Given the description of an element on the screen output the (x, y) to click on. 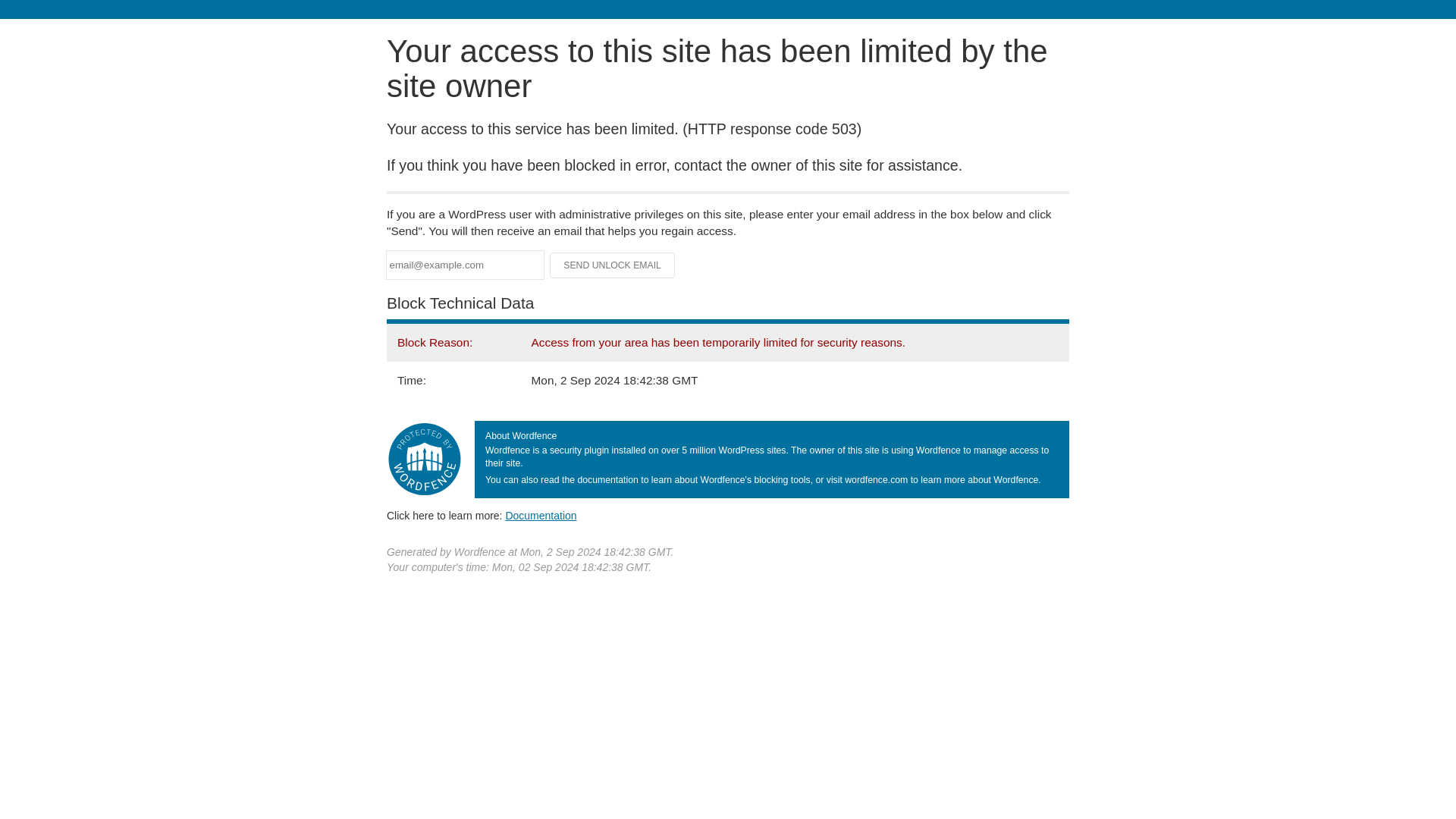
Send Unlock Email (612, 265)
Send Unlock Email (612, 265)
Documentation (540, 515)
